Given the description of an element on the screen output the (x, y) to click on. 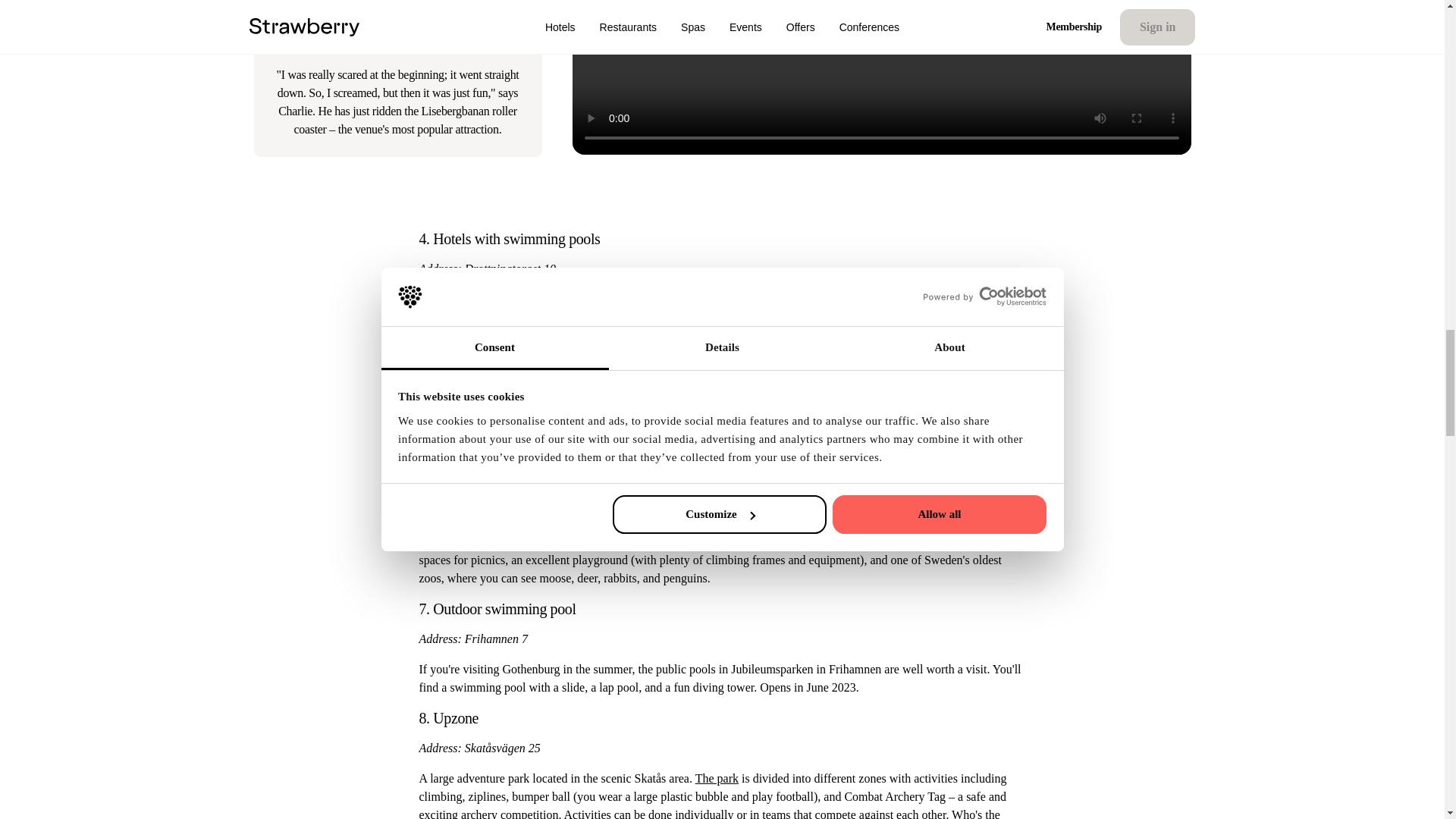
Your browser cannot play the provided video file. (881, 20)
Your browser cannot play the provided video file. (881, 20)
